Given the description of an element on the screen output the (x, y) to click on. 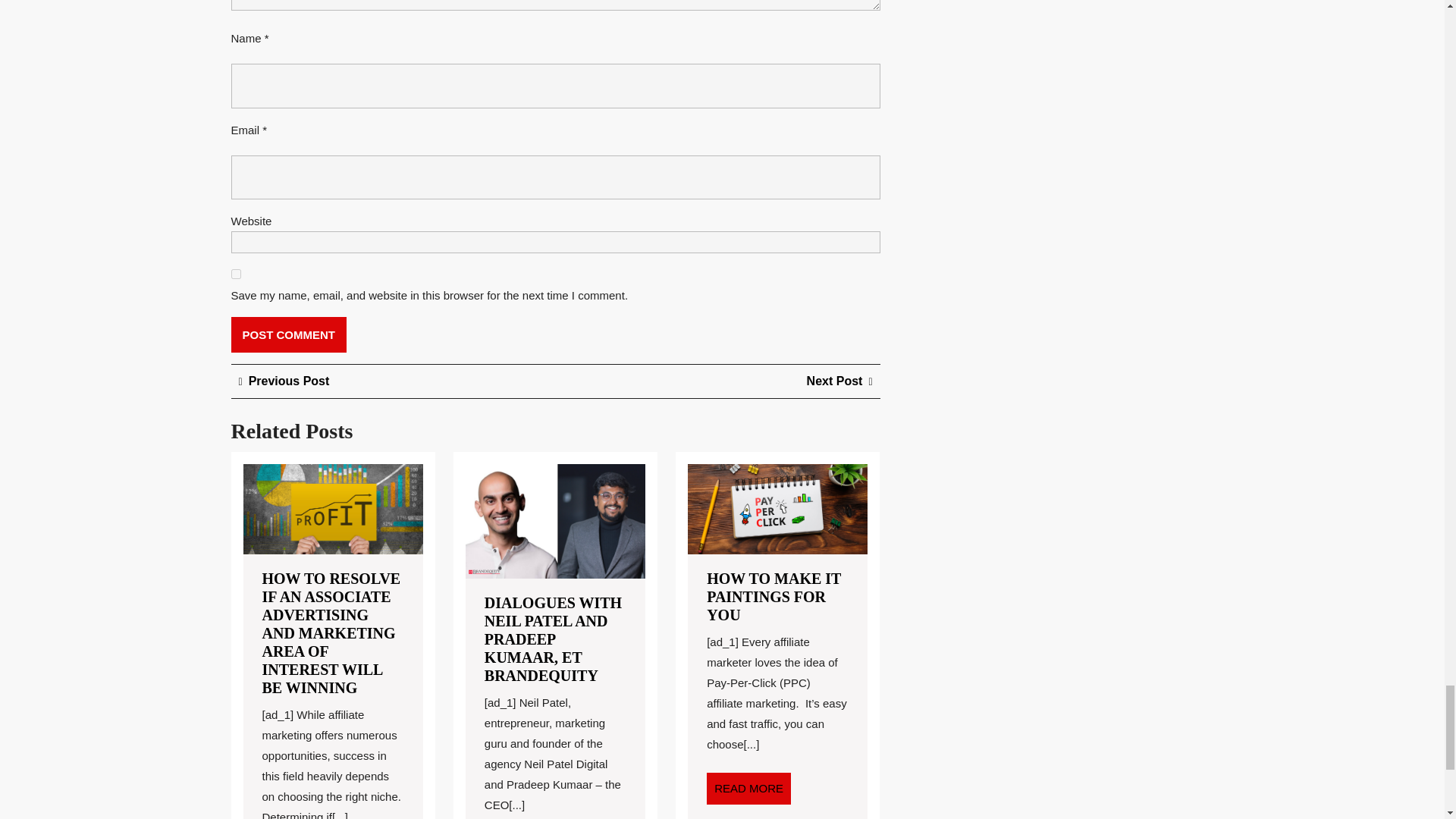
READ MORE (748, 788)
yes (235, 274)
Post Comment (288, 334)
